Given the description of an element on the screen output the (x, y) to click on. 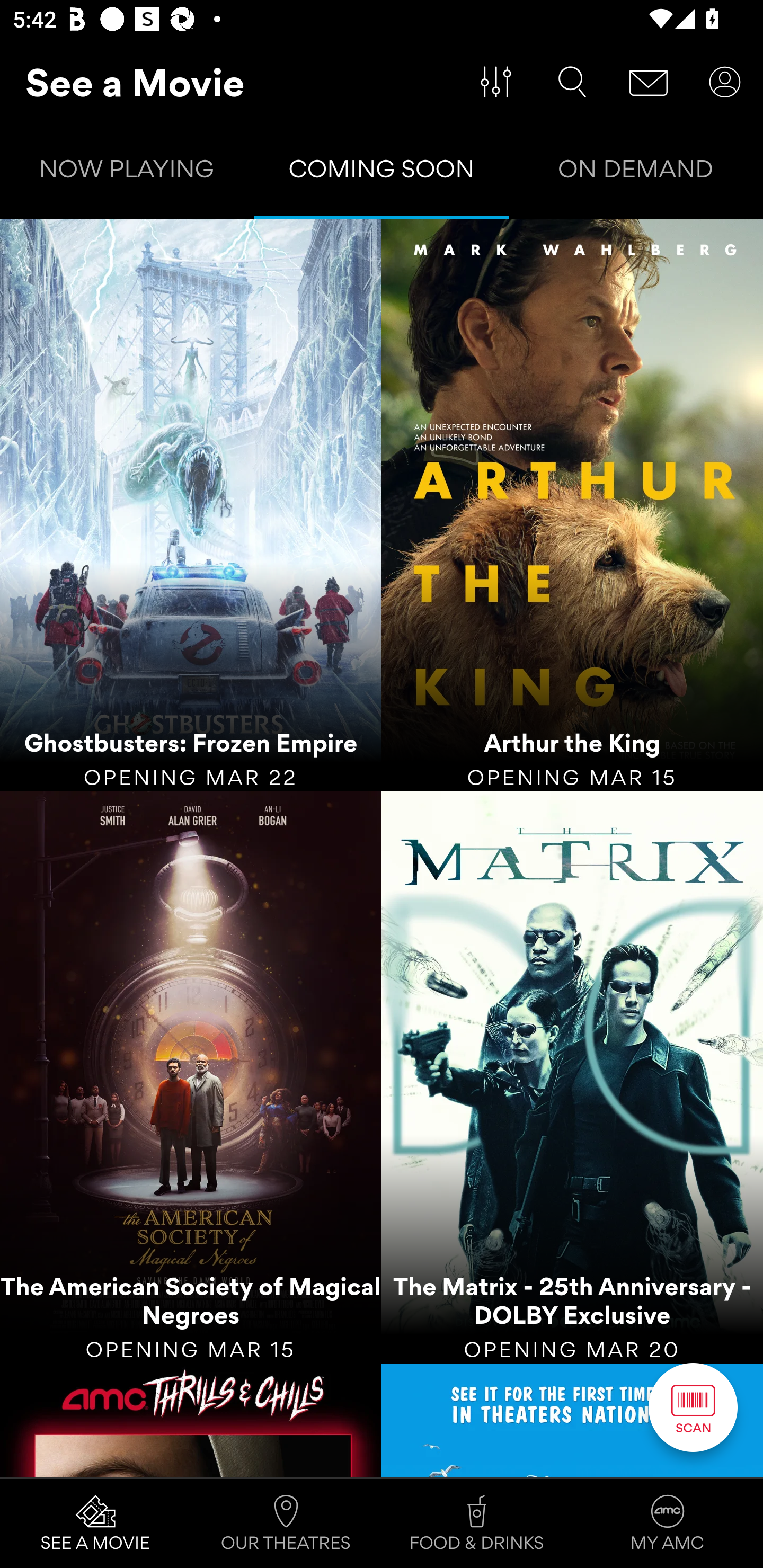
Filter Movies (495, 82)
Search (572, 82)
Message Center (648, 82)
User Account (724, 82)
NOW PLAYING
Tab 1 of 3 (127, 173)
COMING SOON
Tab 2 of 3 (381, 173)
ON DEMAND
Tab 3 of 3 (635, 173)
Ghostbusters: Frozen Empire
OPENING MAR 22 (190, 505)
Arthur the King
OPENING MAR 15 (572, 505)
Scan Button (692, 1406)
SEE A MOVIE
Tab 1 of 4 (95, 1523)
OUR THEATRES
Tab 2 of 4 (285, 1523)
FOOD & DRINKS
Tab 3 of 4 (476, 1523)
MY AMC
Tab 4 of 4 (667, 1523)
